Given the description of an element on the screen output the (x, y) to click on. 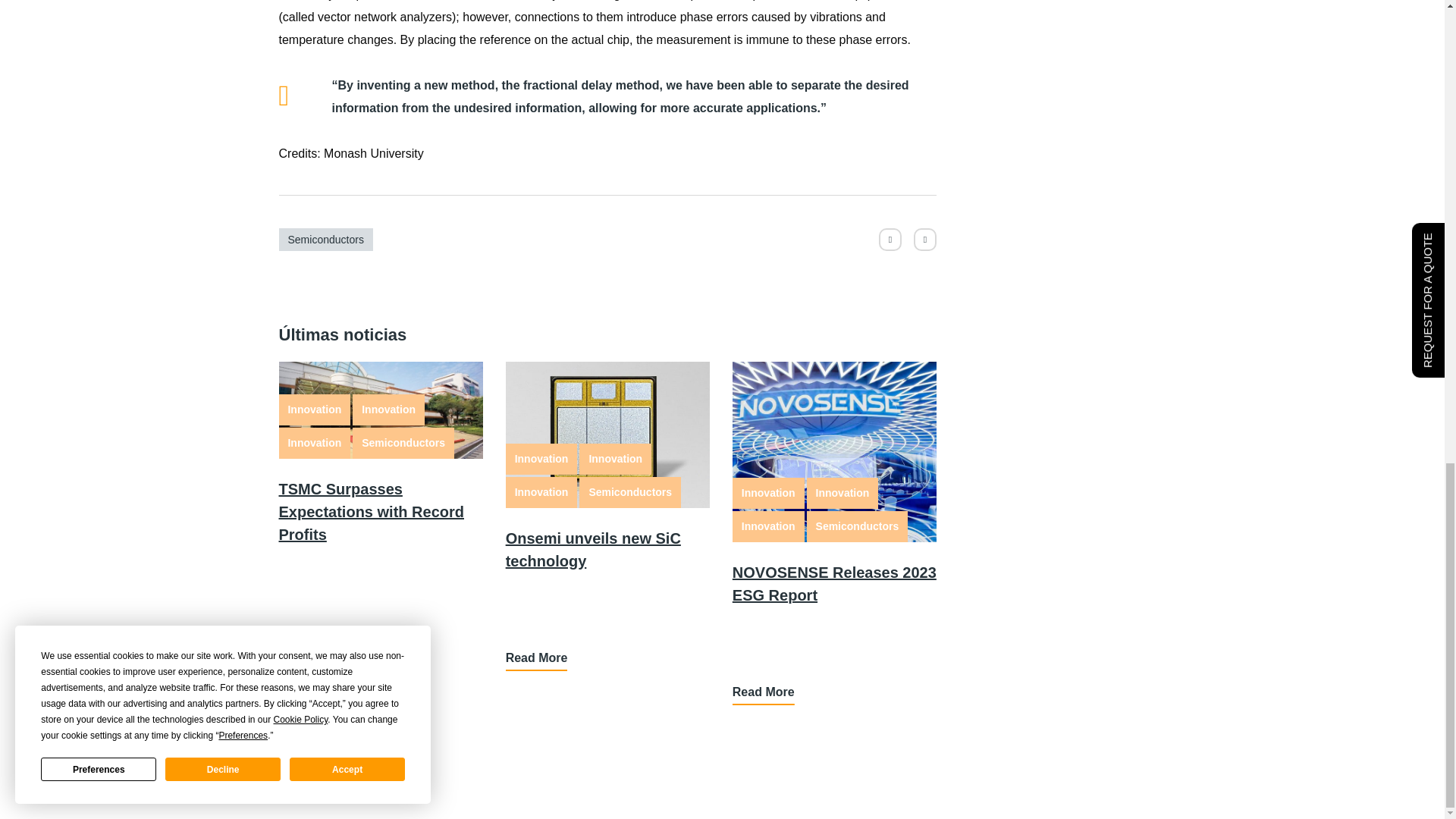
LinkedIn (925, 239)
Semiconductors (325, 239)
Innovation (314, 409)
1 (834, 451)
Semiconductors (403, 442)
innovation (306, 573)
Twitter (890, 239)
Innovation (388, 409)
Innovation (314, 442)
TSMC Surpasses Expectations with Record Profits (371, 511)
